Given the description of an element on the screen output the (x, y) to click on. 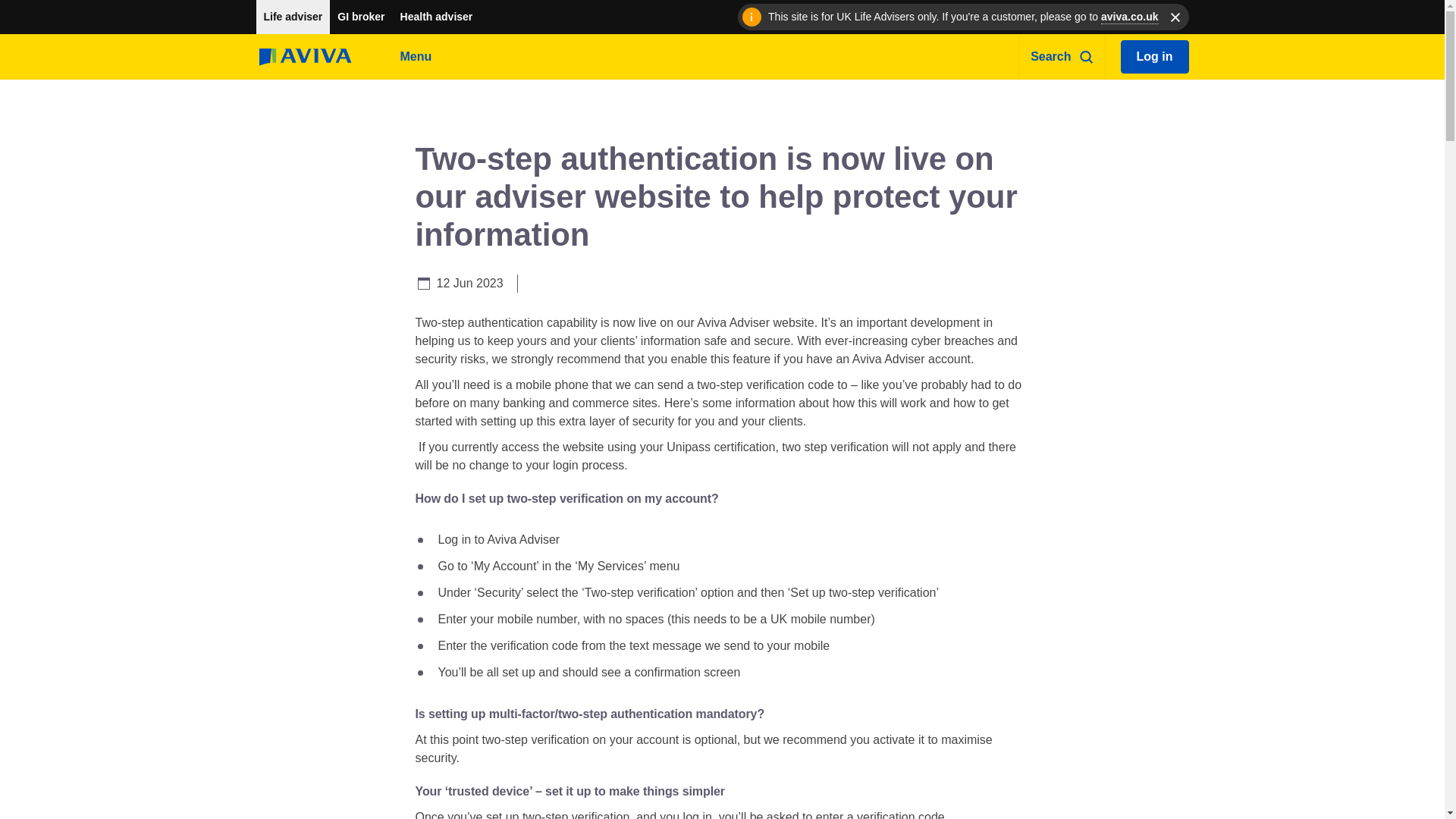
Go to our UK direct customer website (1129, 17)
Search (1061, 56)
Log in (1155, 56)
Health adviser (436, 17)
GI broker (360, 17)
aviva.co.uk (1129, 17)
Close (1175, 16)
